Given the description of an element on the screen output the (x, y) to click on. 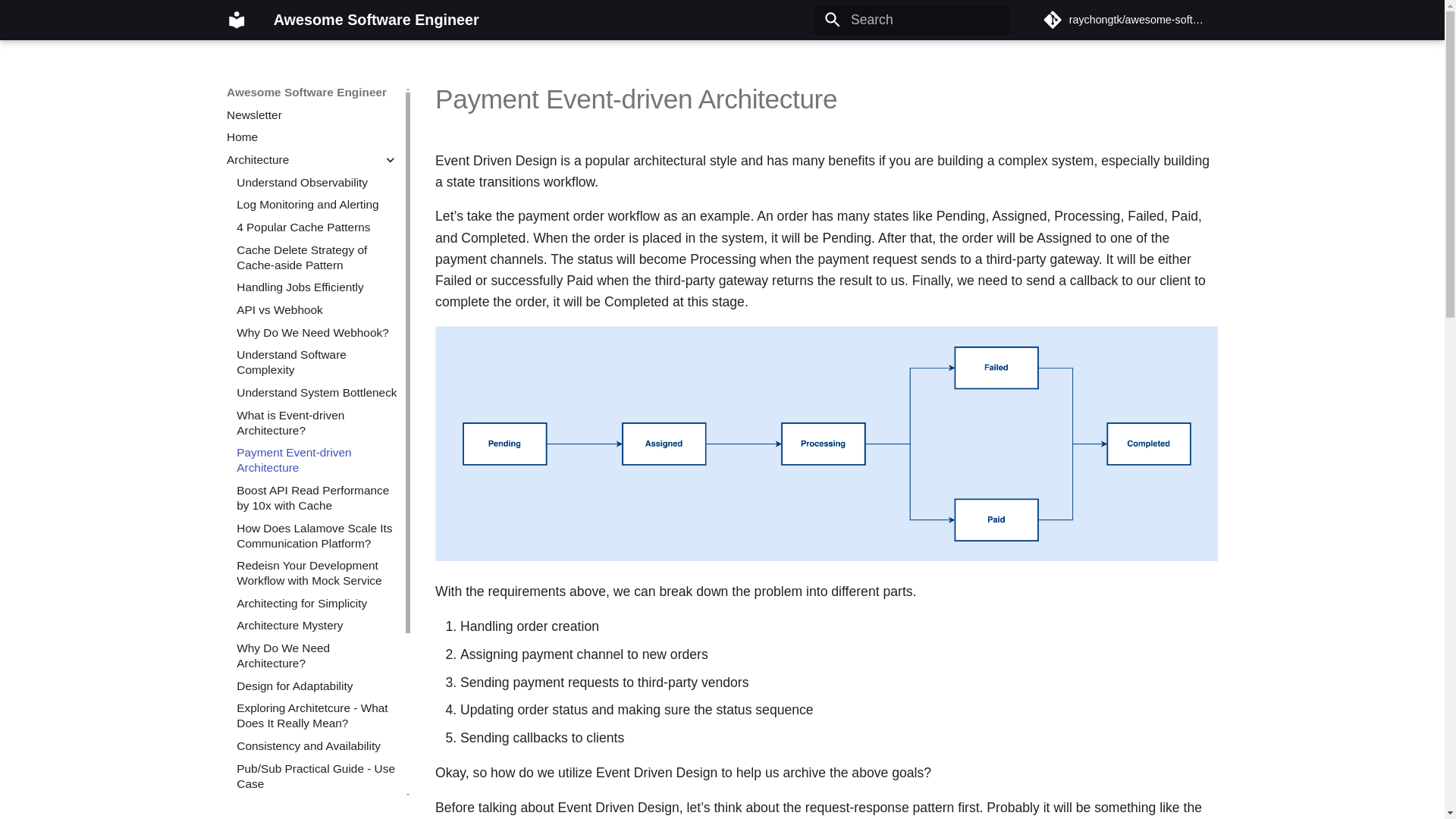
4 Popular Cache Patterns (316, 227)
What is Event-driven Architecture? (316, 422)
Go to repository (1129, 20)
Architecting for Simplicity (316, 603)
Why Do We Need Webhook? (316, 332)
Boost API Read Performance by 10x with Cache (316, 498)
Why Do We Need Architecture? (316, 655)
Understand System Bottleneck (316, 392)
API vs Webhook (316, 309)
Consistency and Availability (316, 745)
